Given the description of an element on the screen output the (x, y) to click on. 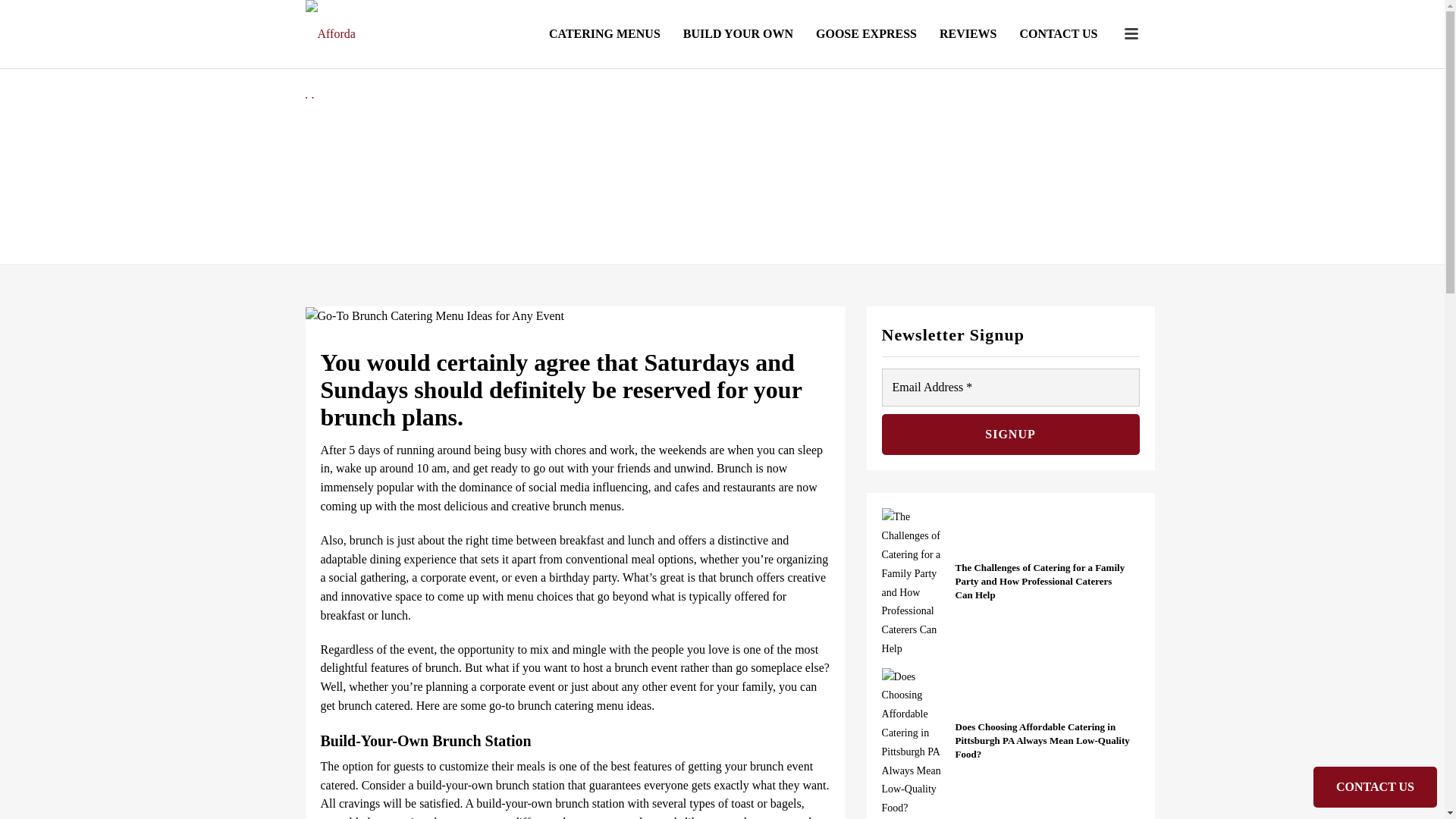
GOOSE EXPRESS (866, 33)
CONTACT US (1059, 33)
GOOSE EXPRESS (866, 33)
BUILD YOUR OWN (738, 33)
CONTACT US (1059, 33)
CATERING MENUS (604, 33)
Affordable, Quality Catering Services in PIttsburgh, PA (332, 49)
BUILD YOUR OWN (738, 33)
REVIEWS (968, 33)
Go-To Brunch Catering Menu Ideas for Any Event (574, 315)
REVIEWS (968, 33)
CATERING MENUS (604, 33)
SIGNUP (1011, 434)
